Given the description of an element on the screen output the (x, y) to click on. 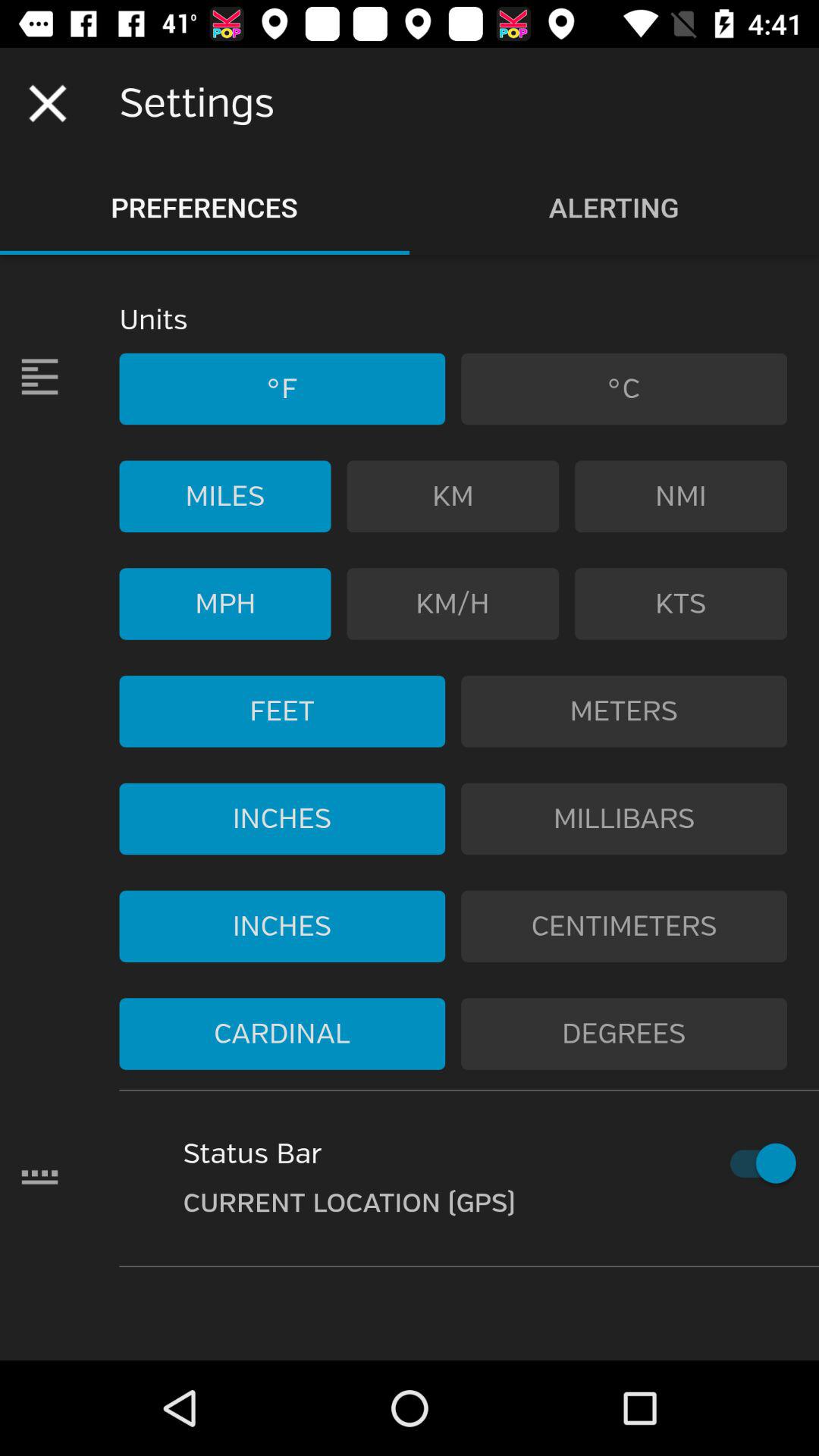
flip until degrees item (624, 1033)
